Given the description of an element on the screen output the (x, y) to click on. 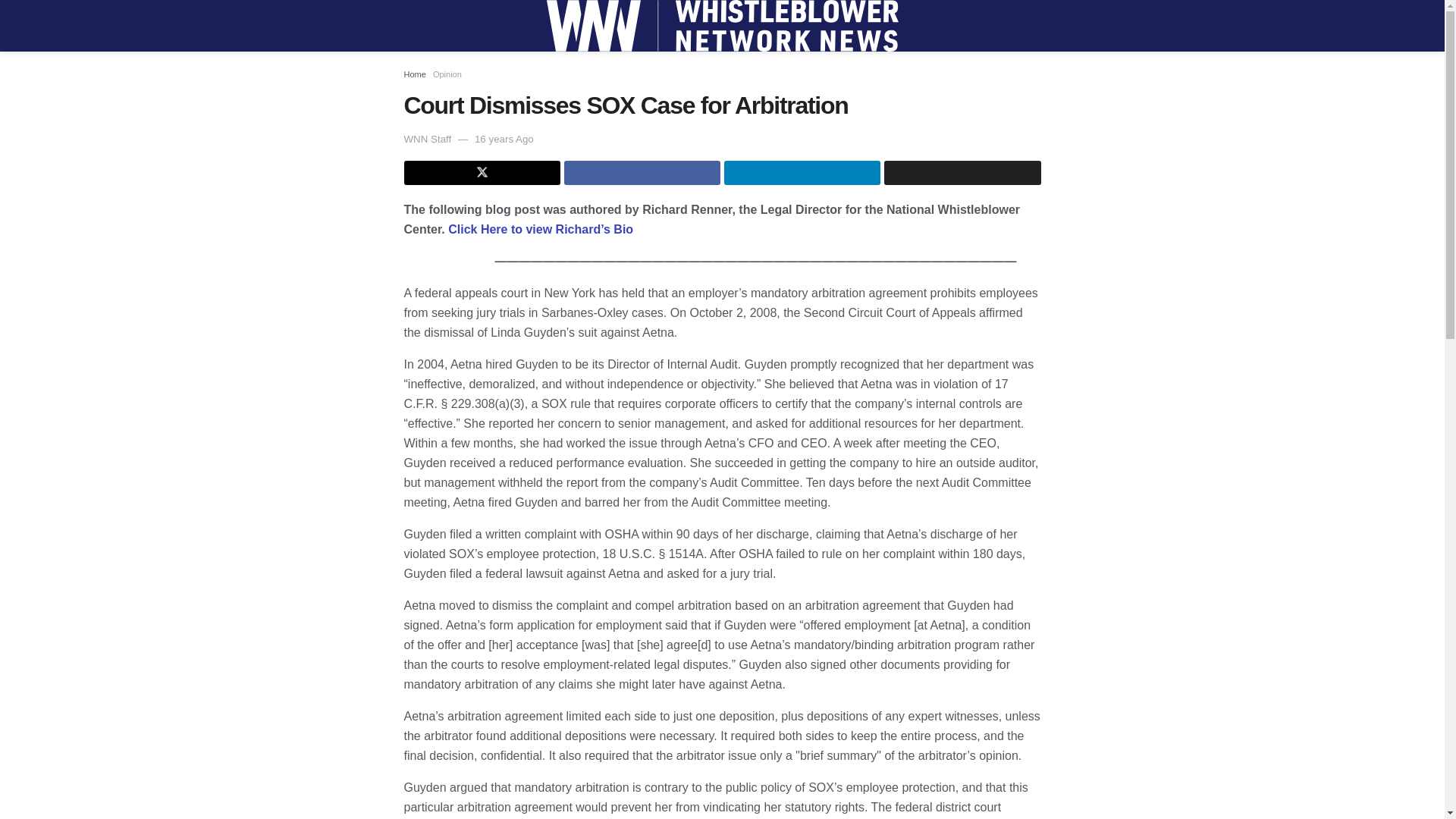
Opinion (446, 73)
Home (414, 73)
